Given the description of an element on the screen output the (x, y) to click on. 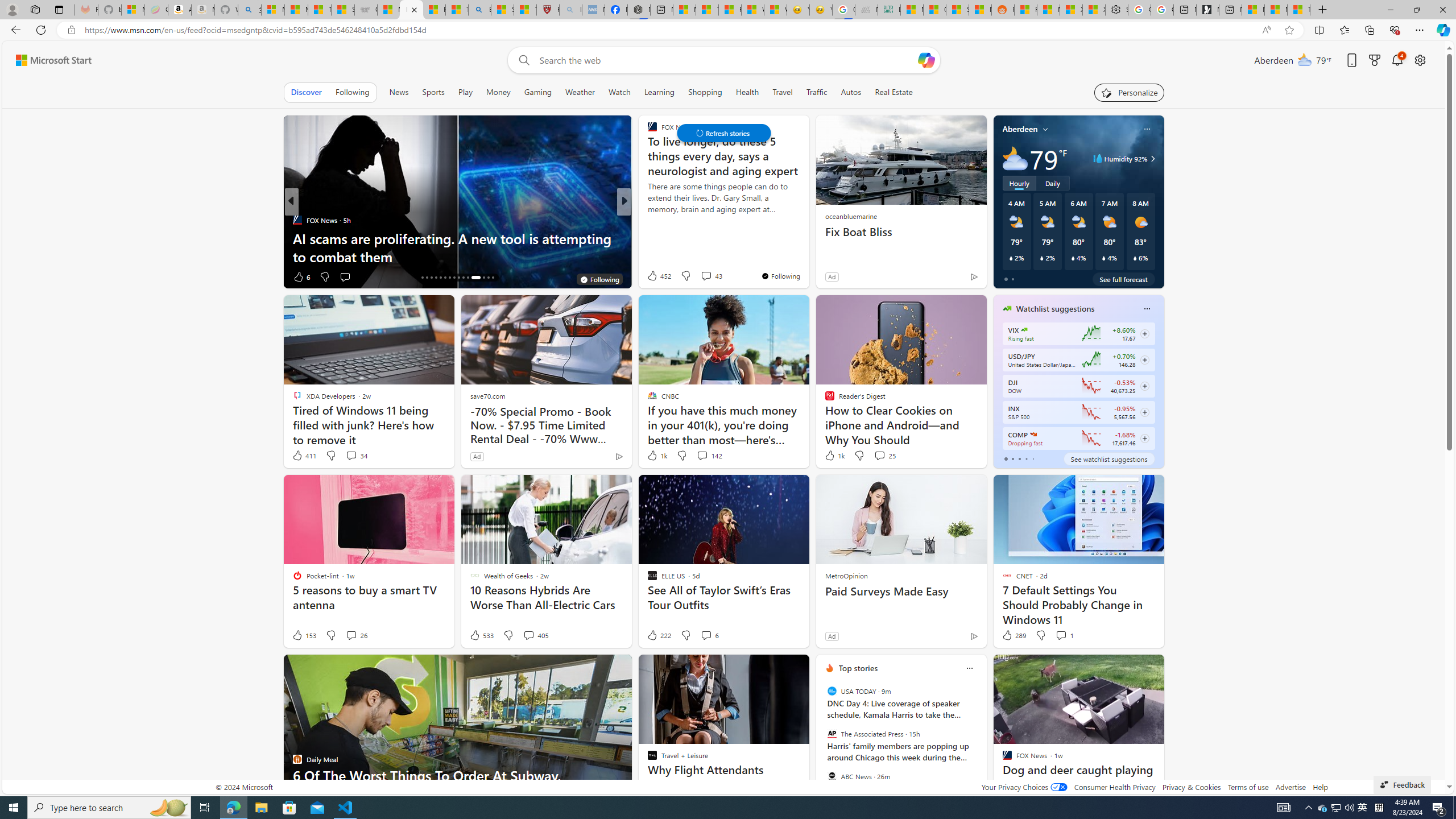
The Associated Press (832, 733)
AutomationID: tab-23 (454, 277)
411 Like (303, 455)
